Given the description of an element on the screen output the (x, y) to click on. 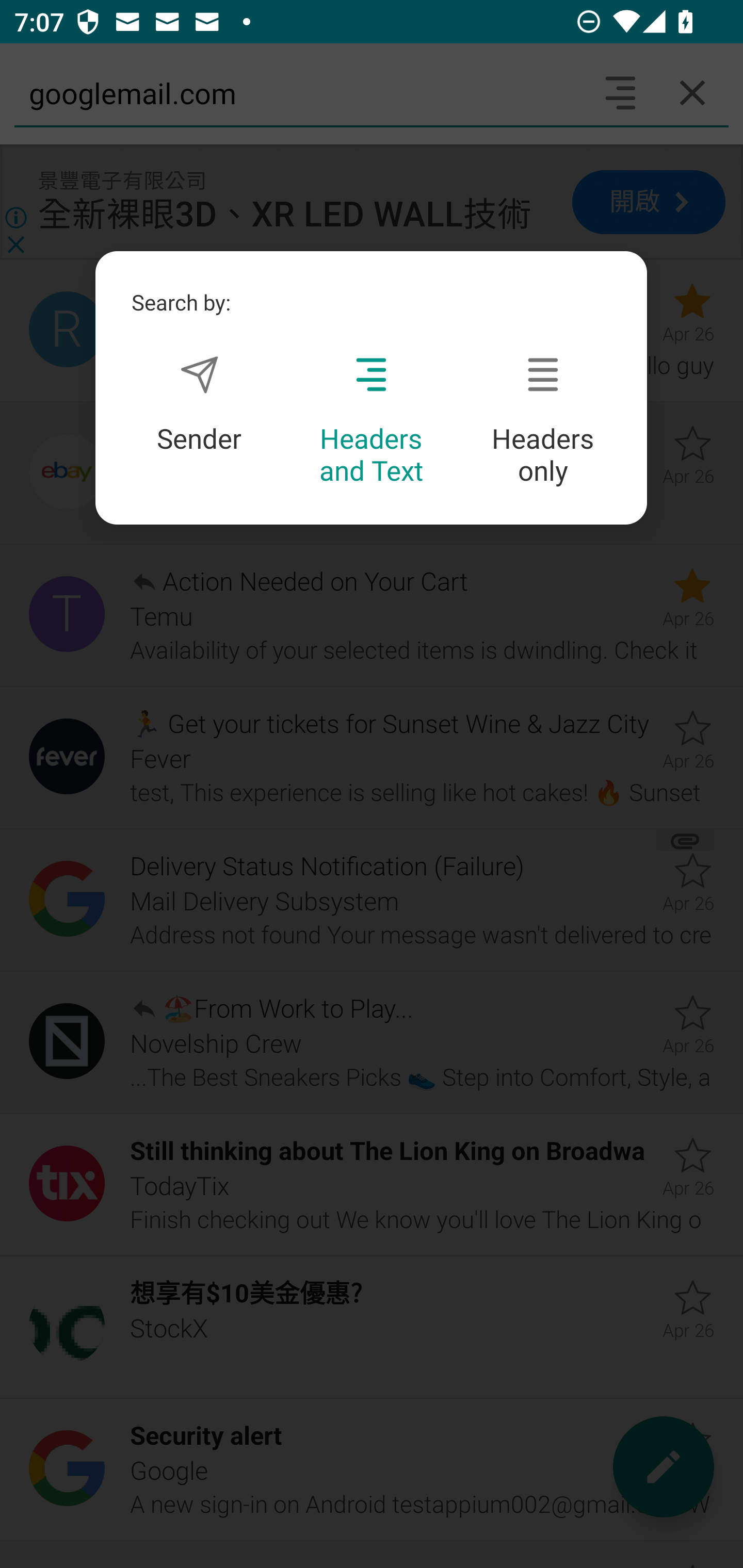
Sender (199, 404)
Headers and Text (371, 420)
Headers only (542, 420)
